Given the description of an element on the screen output the (x, y) to click on. 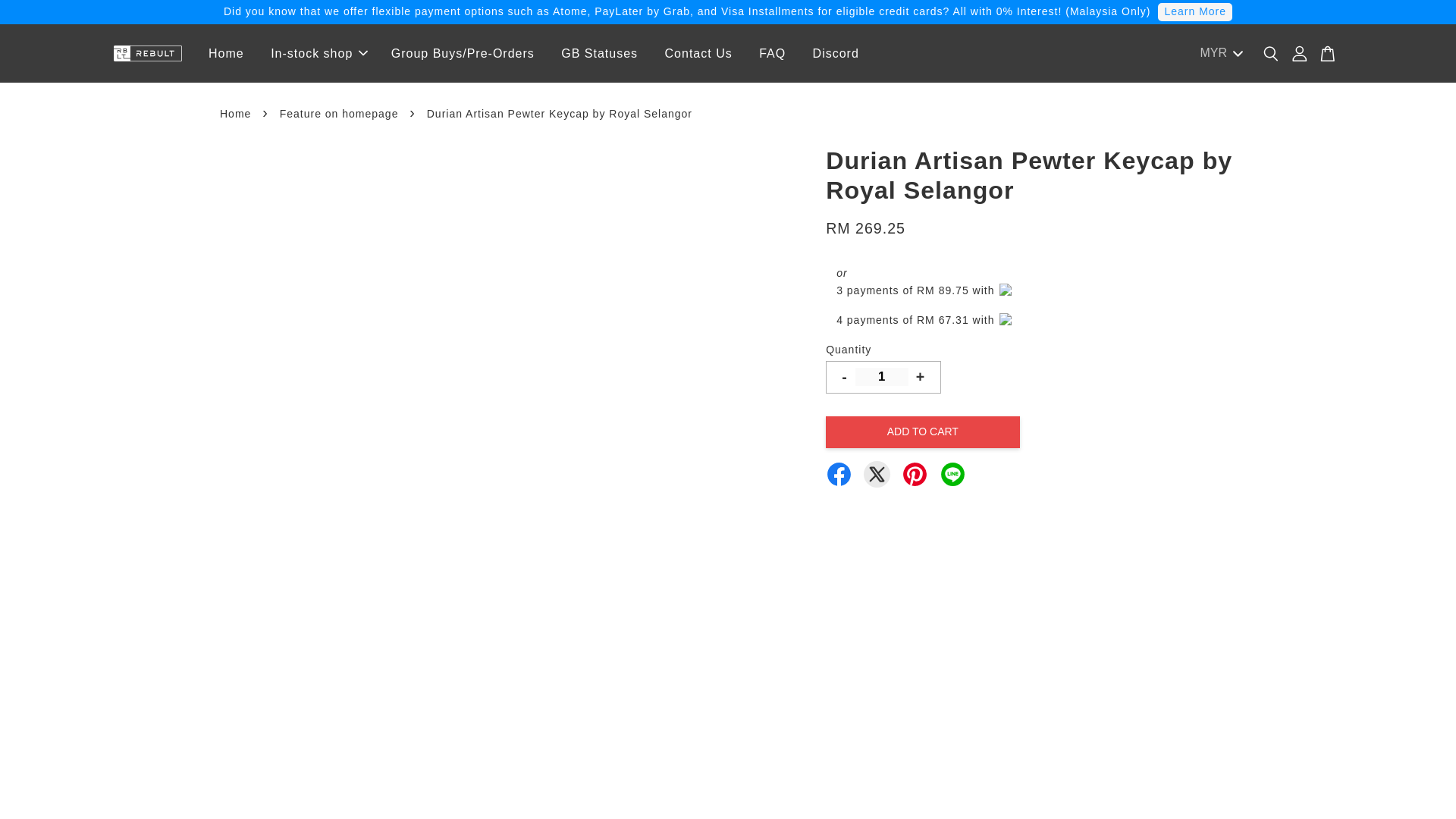
Facebook (838, 474)
1 (882, 376)
In-stock shop (317, 53)
Home (226, 53)
FAQ (772, 53)
Contact Us (698, 53)
Back to the homepage (236, 113)
Learn More (1194, 11)
Pinterest (914, 474)
GB Statuses (599, 53)
LINE (952, 474)
Discord (836, 53)
